Given the description of an element on the screen output the (x, y) to click on. 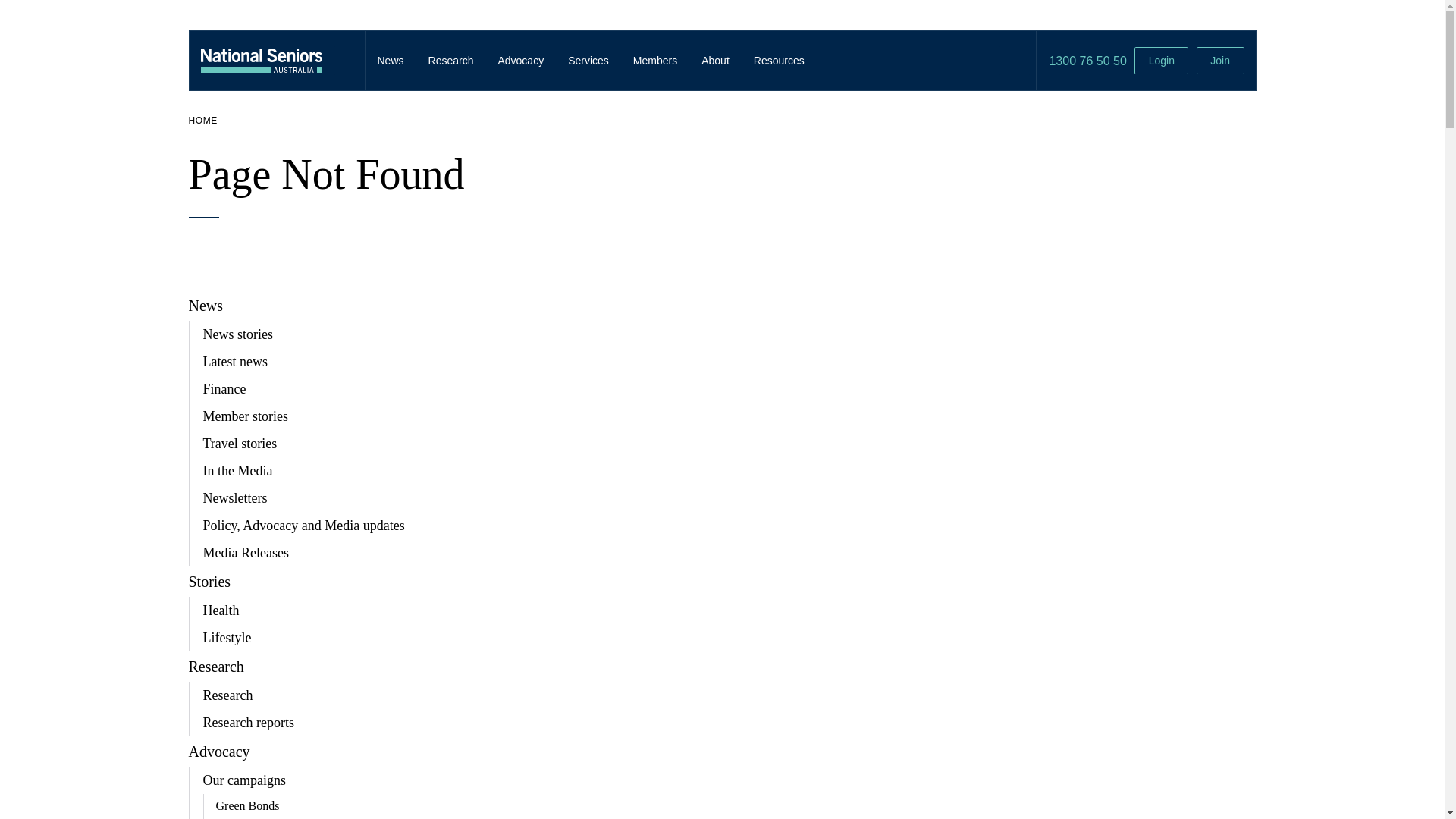
HOME Element type: text (202, 120)
Login Element type: text (1161, 60)
Lifestyle Element type: text (227, 637)
Research Element type: text (228, 695)
1300 76 50 50 Element type: text (1087, 60)
Advocacy Element type: text (520, 60)
Health Element type: text (221, 610)
Stories Element type: text (209, 581)
Toggle Website Menu Element type: hover (348, 60)
Newsletters Element type: text (235, 497)
Members Element type: text (655, 60)
Finance Element type: text (224, 388)
Green Bonds Element type: text (247, 805)
About Element type: text (715, 60)
Our campaigns Element type: text (244, 779)
Services Element type: text (588, 60)
In the Media Element type: text (238, 470)
Advocacy Element type: text (218, 751)
News stories Element type: text (238, 334)
Member stories Element type: text (245, 415)
Media Releases Element type: text (245, 552)
Research reports Element type: text (248, 722)
Policy, Advocacy and Media updates Element type: text (303, 525)
Resources Element type: text (778, 60)
Research Element type: text (215, 666)
National Seniors Australia Logo - Link to homepage Element type: hover (276, 60)
Join Element type: text (1220, 60)
News Element type: text (390, 60)
Research Element type: text (451, 60)
Travel stories Element type: text (240, 443)
Latest news Element type: text (235, 361)
News Element type: text (205, 305)
